Given the description of an element on the screen output the (x, y) to click on. 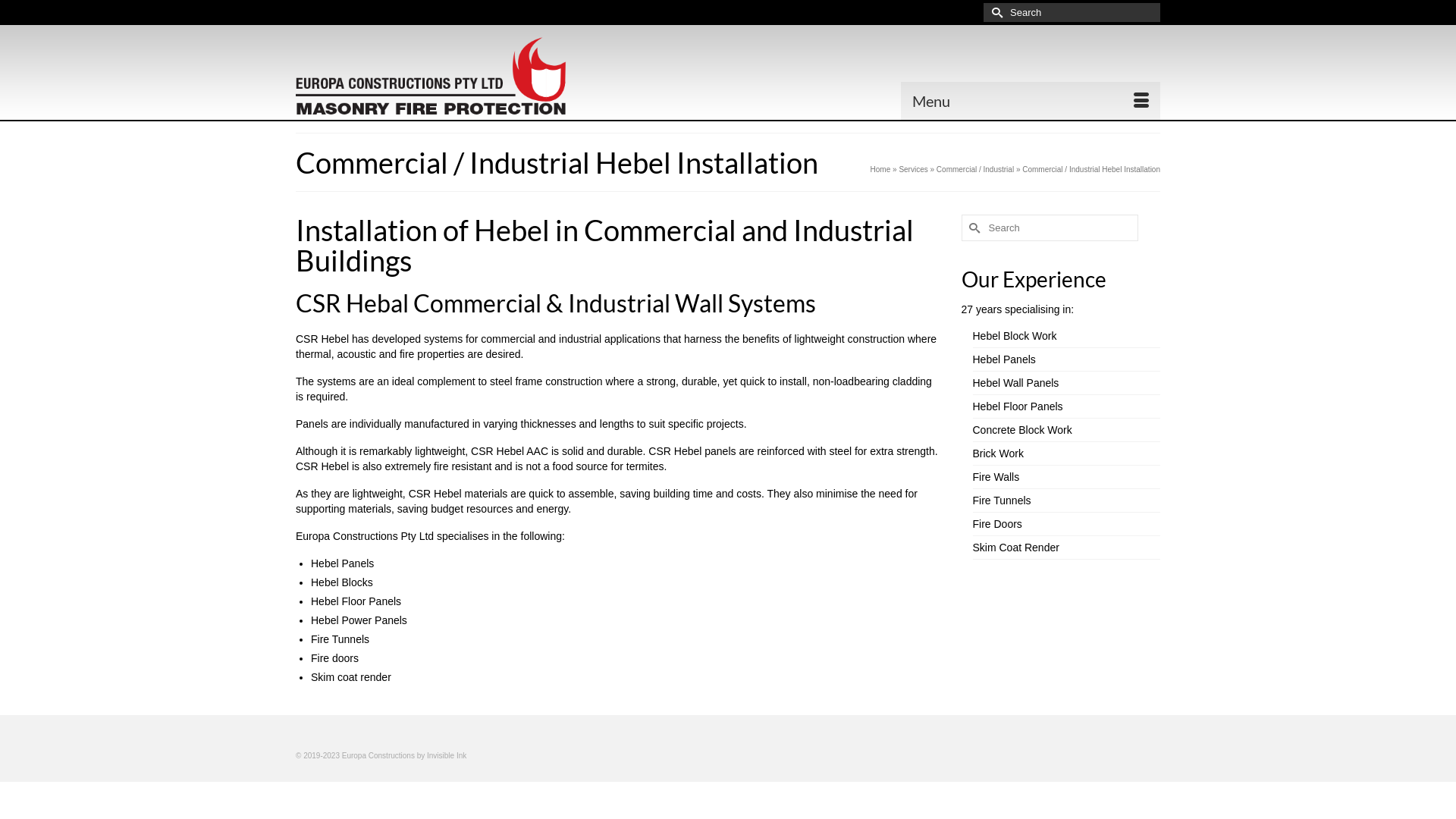
Europa Constructions Element type: hover (431, 75)
Commercial / Industrial Element type: text (974, 169)
Services Element type: text (912, 169)
Menu Element type: text (1030, 100)
Home Element type: text (880, 169)
